Given the description of an element on the screen output the (x, y) to click on. 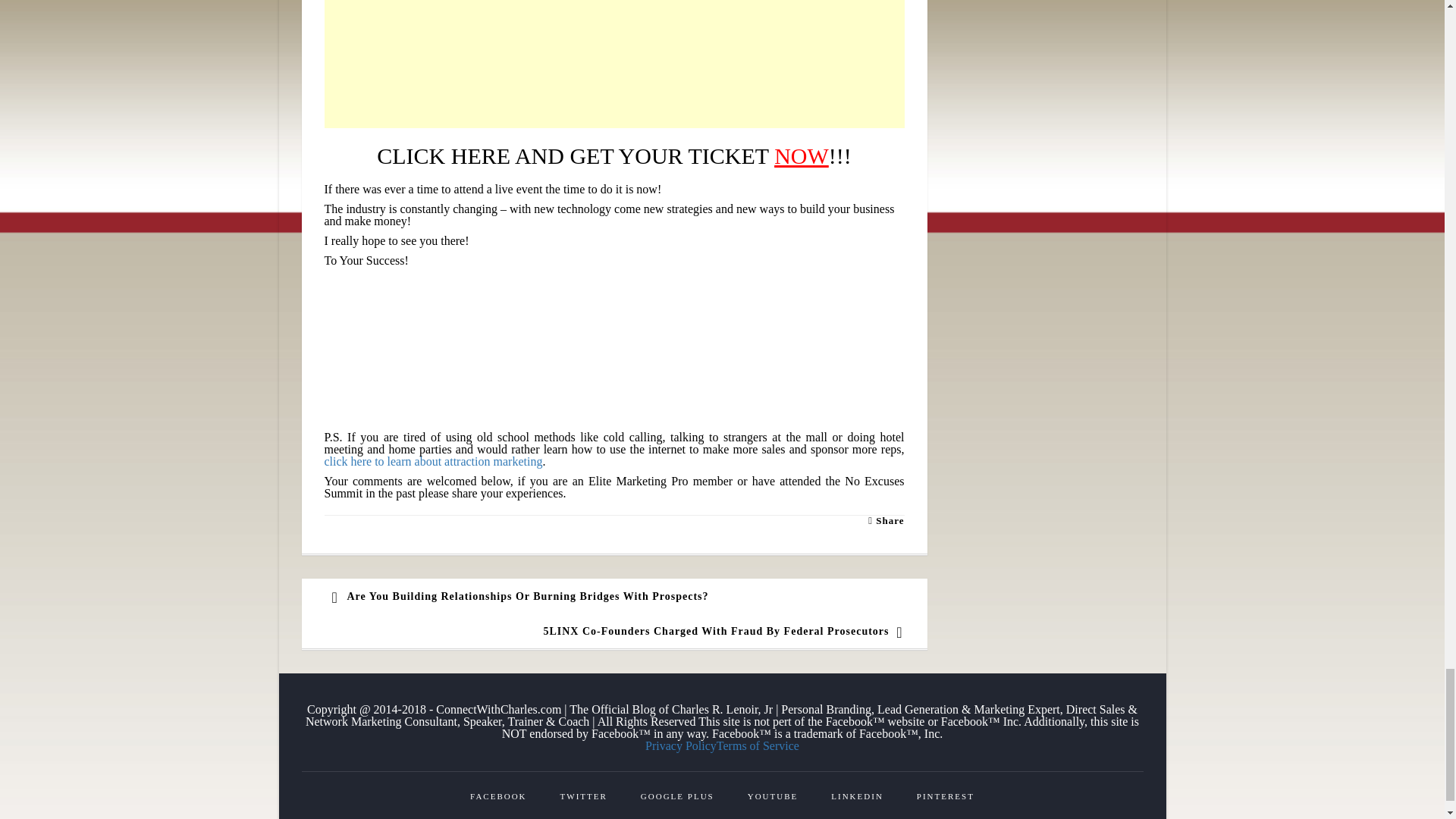
ViSalus (401, 343)
CLICK HERE AND GET YOUR TICKET NOW!!! (614, 155)
click here to learn about attraction marketing (433, 461)
